Given the description of an element on the screen output the (x, y) to click on. 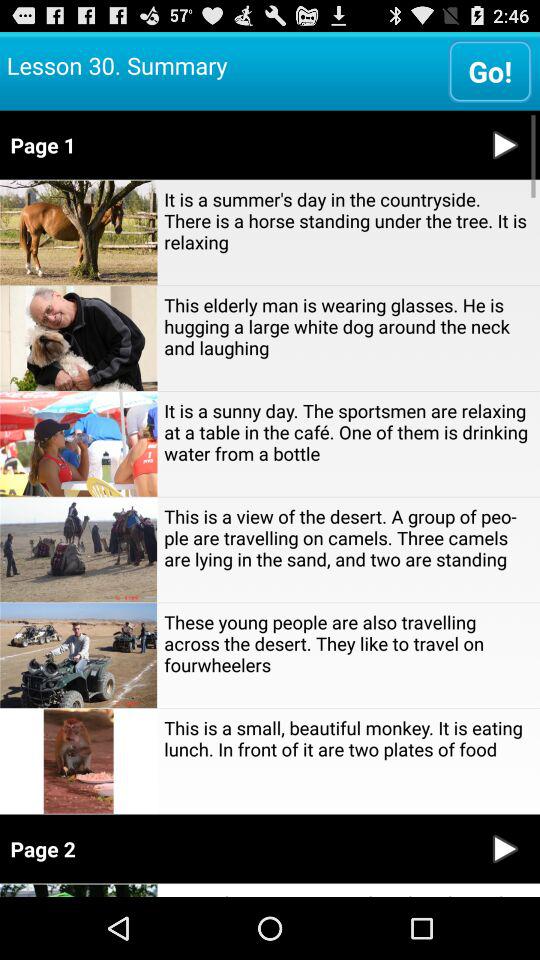
scroll to this elderly man item (348, 325)
